Given the description of an element on the screen output the (x, y) to click on. 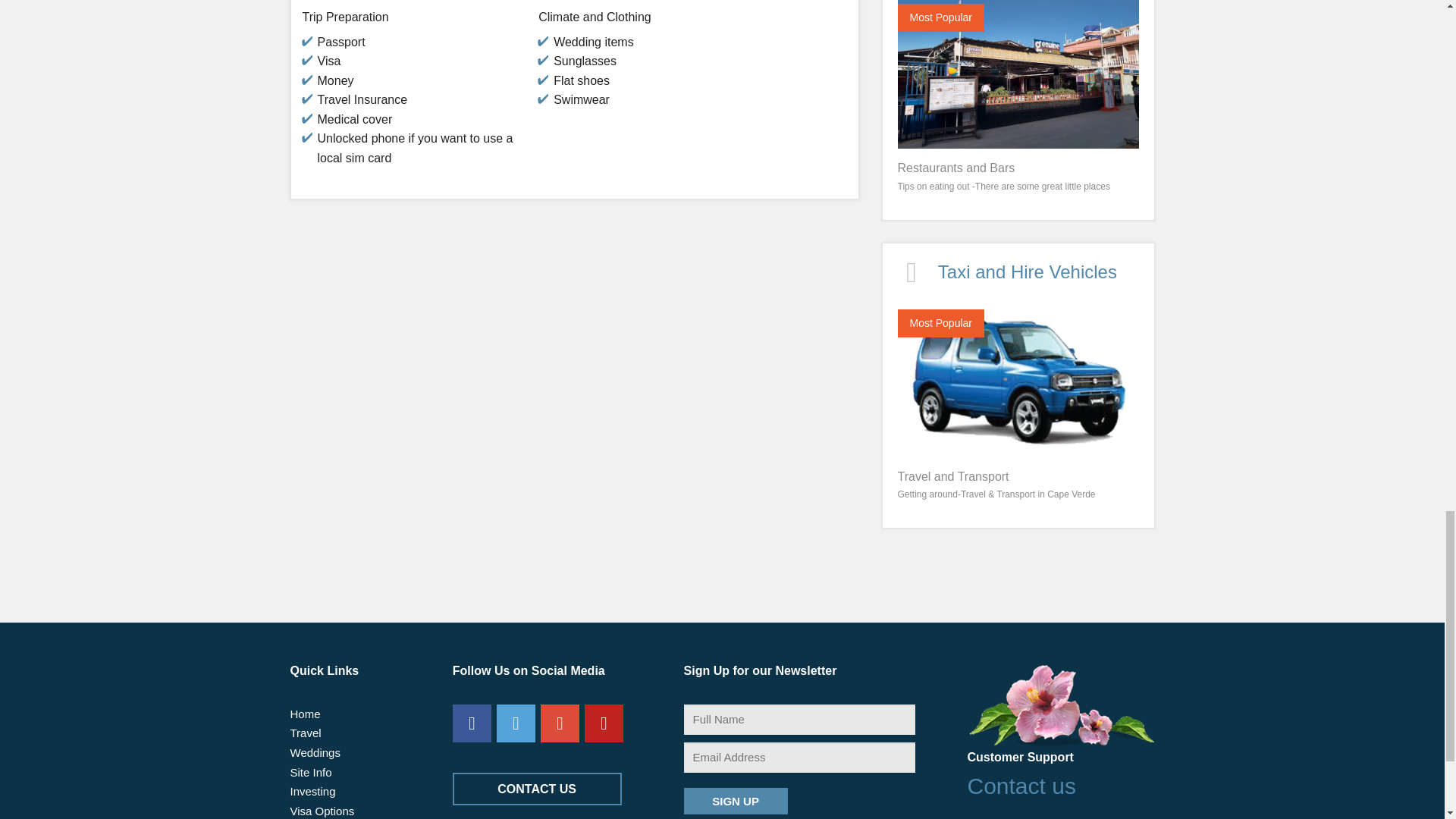
SIGN UP (735, 800)
